Given the description of an element on the screen output the (x, y) to click on. 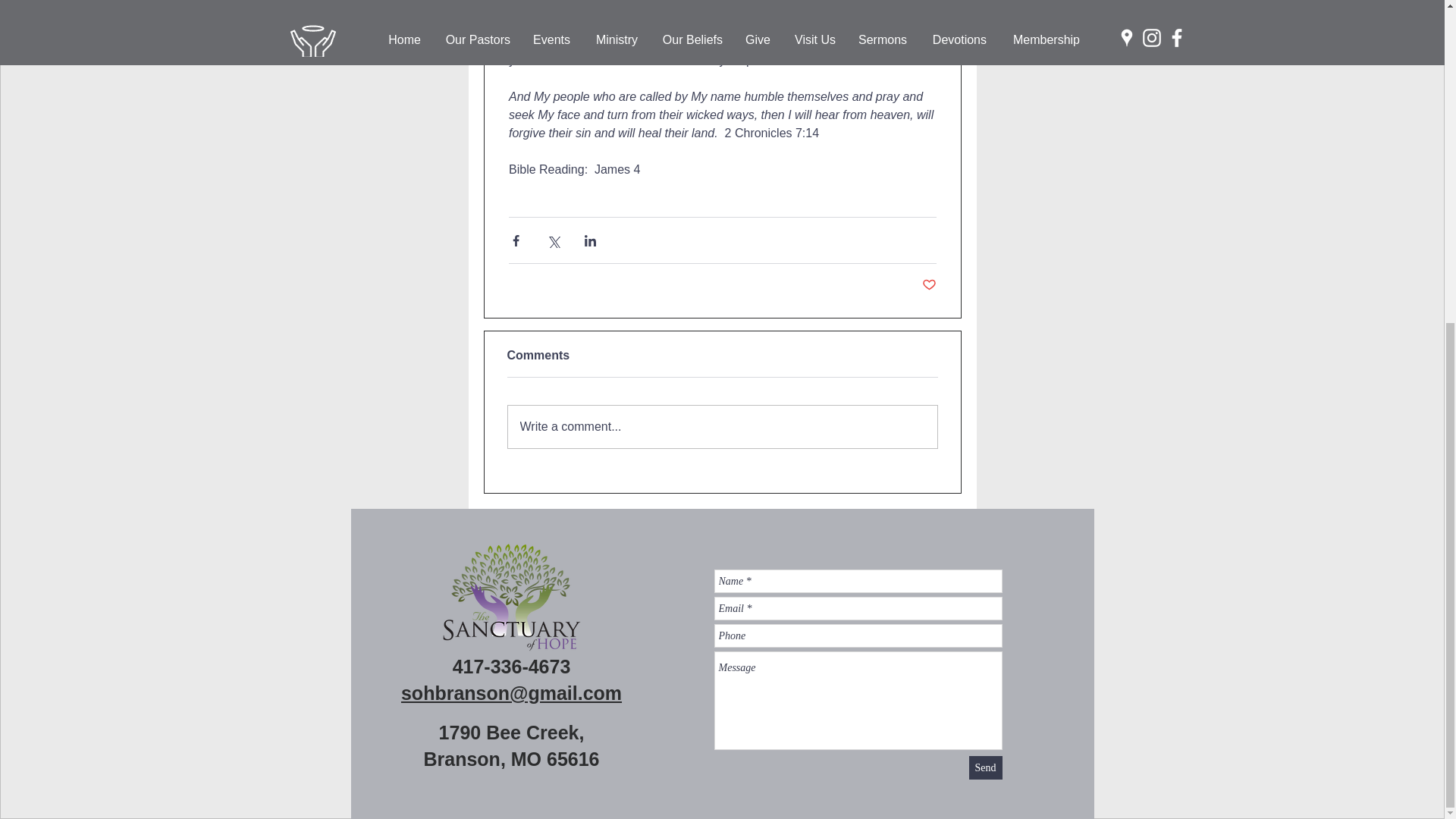
Send (986, 767)
Write a comment... (722, 426)
Post not marked as liked (928, 285)
